Given the description of an element on the screen output the (x, y) to click on. 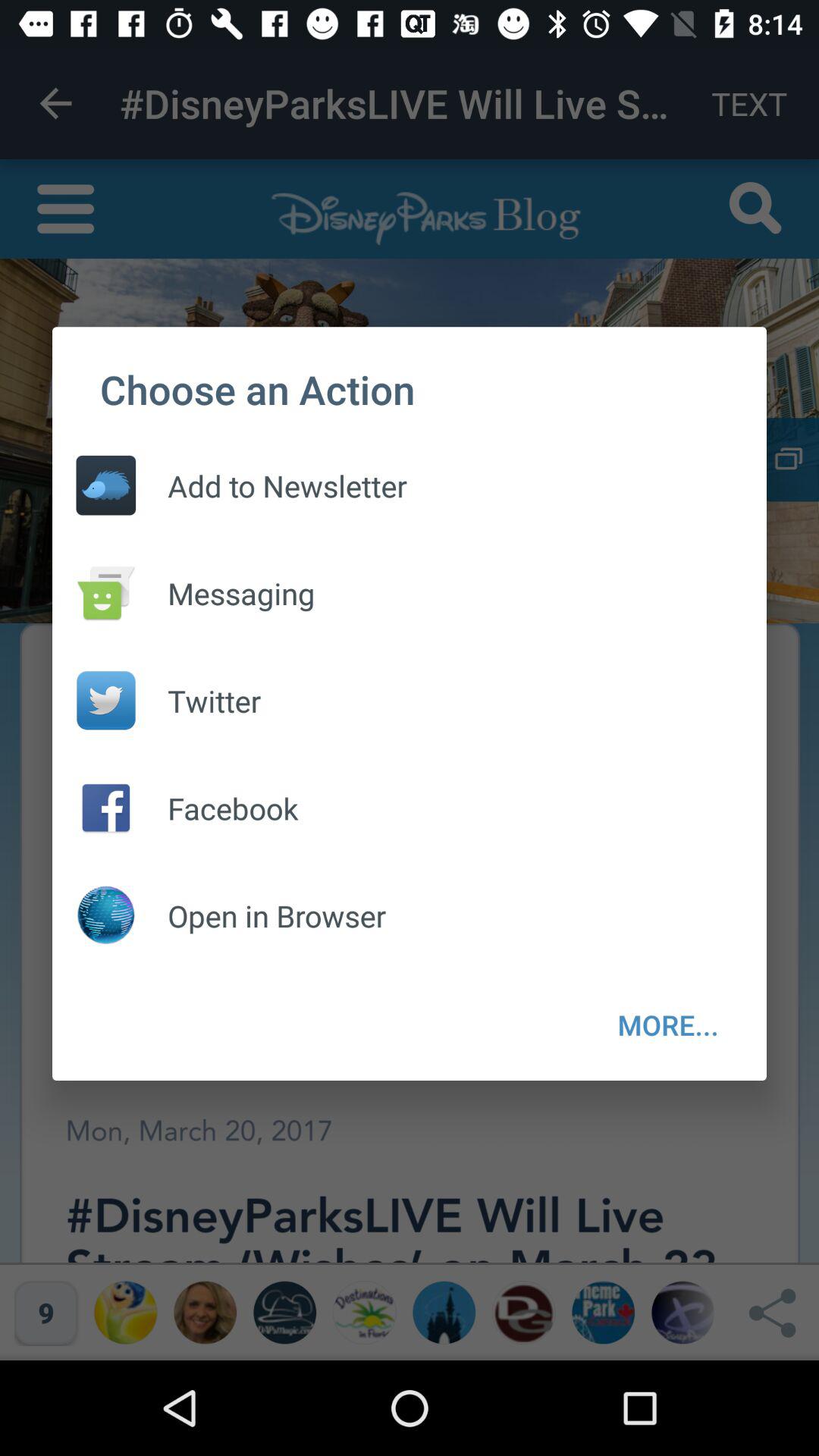
jump to more... icon (667, 1024)
